Given the description of an element on the screen output the (x, y) to click on. 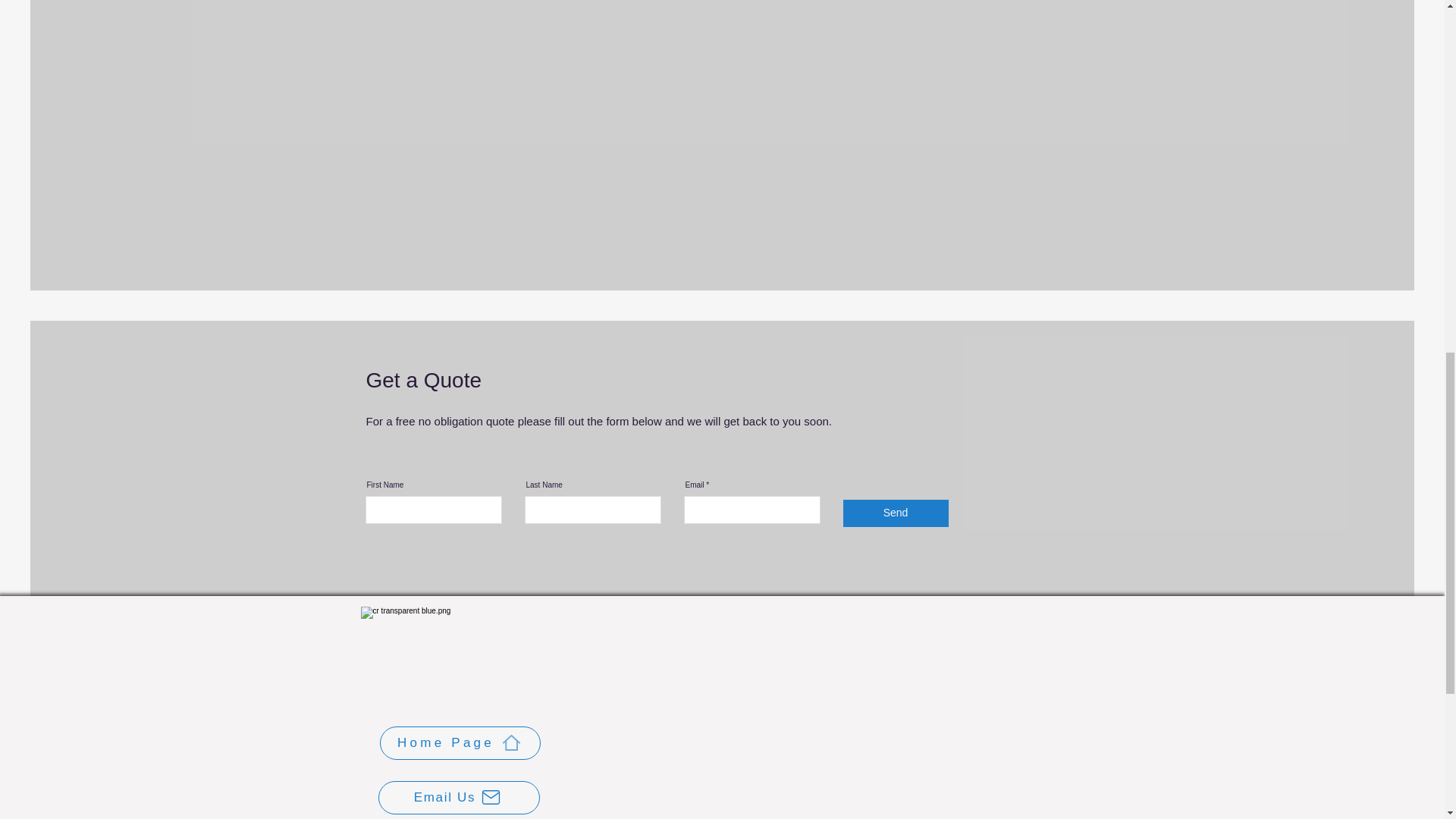
Home Page (459, 743)
Email Us (457, 797)
Send (896, 513)
